Given the description of an element on the screen output the (x, y) to click on. 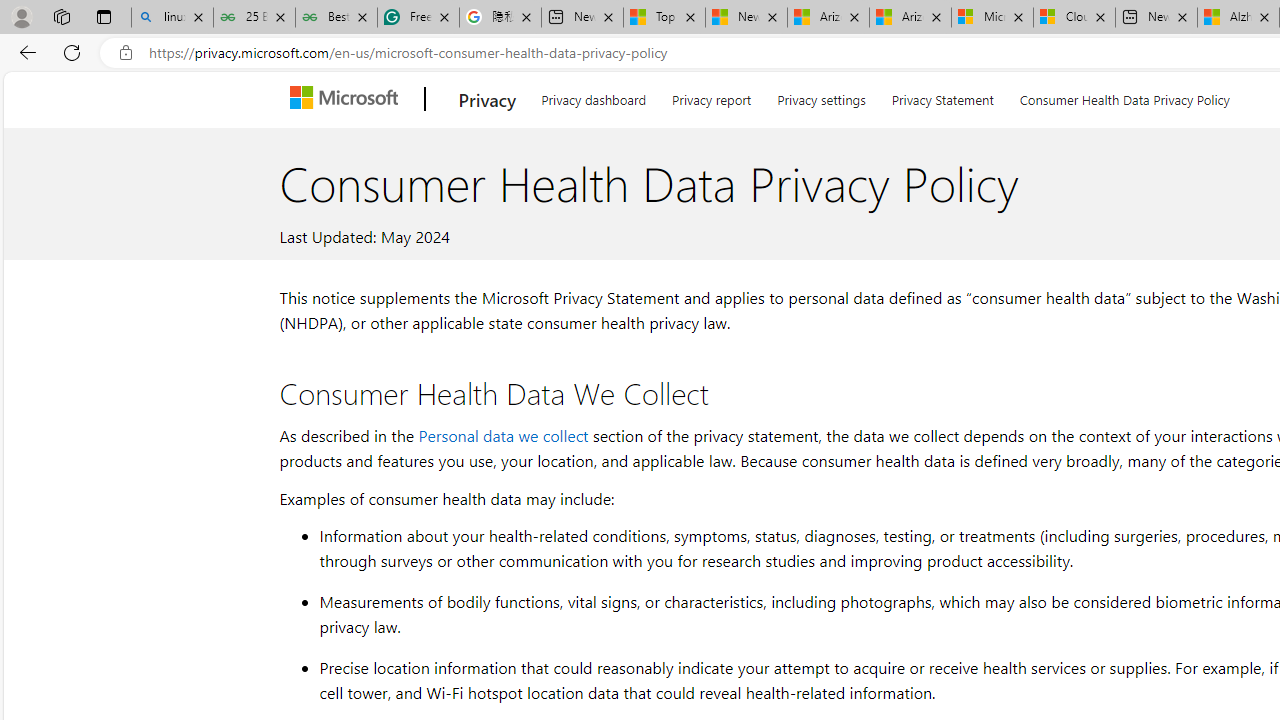
News - MSN (746, 17)
Privacy report (712, 96)
25 Basic Linux Commands For Beginners - GeeksforGeeks (254, 17)
Top Stories - MSN (664, 17)
linux basic - Search (171, 17)
Microsoft (348, 99)
Privacy settings (821, 96)
Privacy dashboard (593, 96)
Privacy report (712, 96)
Best SSL Certificates Provider in India - GeeksforGeeks (336, 17)
